Given the description of an element on the screen output the (x, y) to click on. 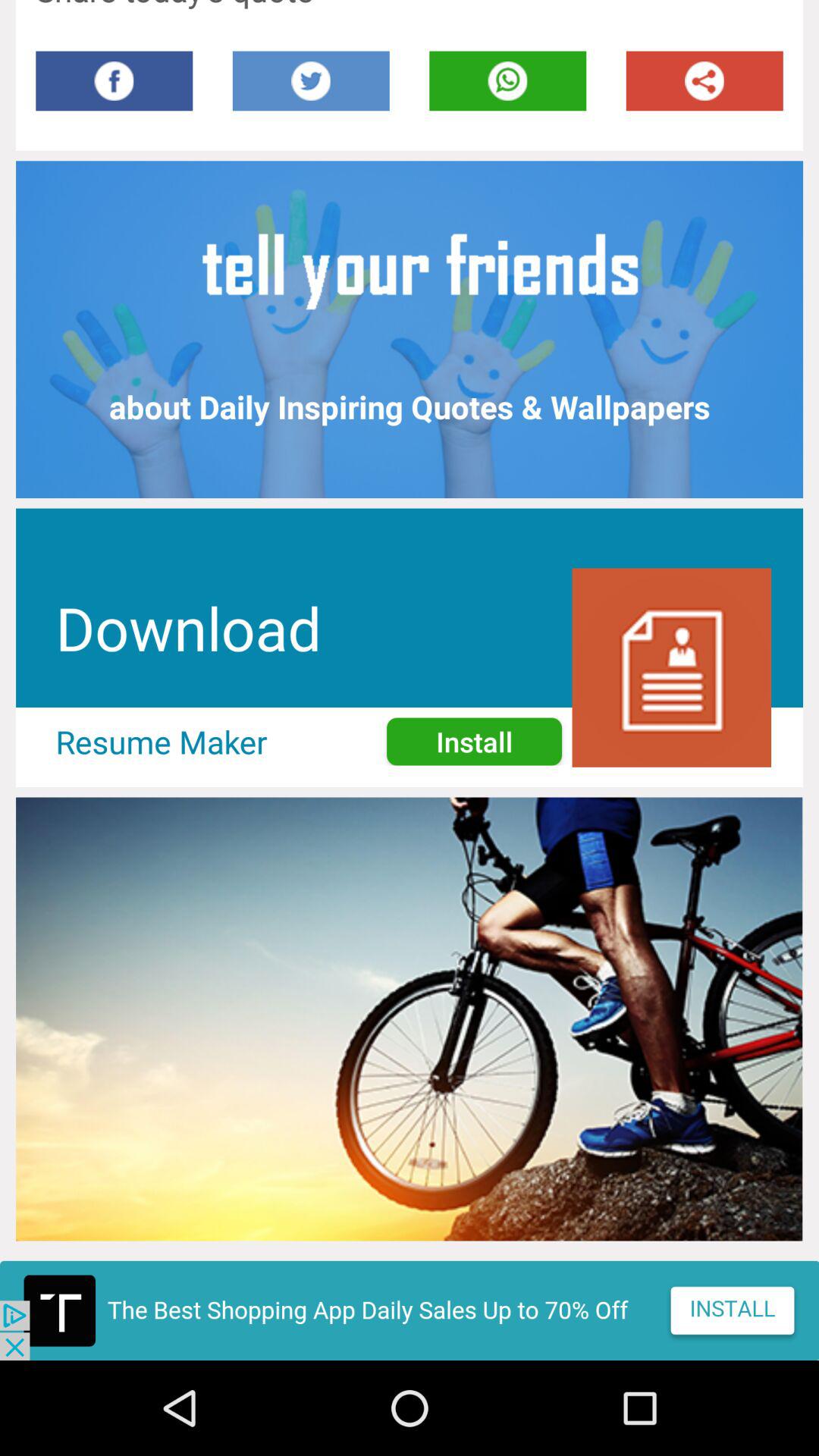
advertisement (409, 1310)
